Given the description of an element on the screen output the (x, y) to click on. 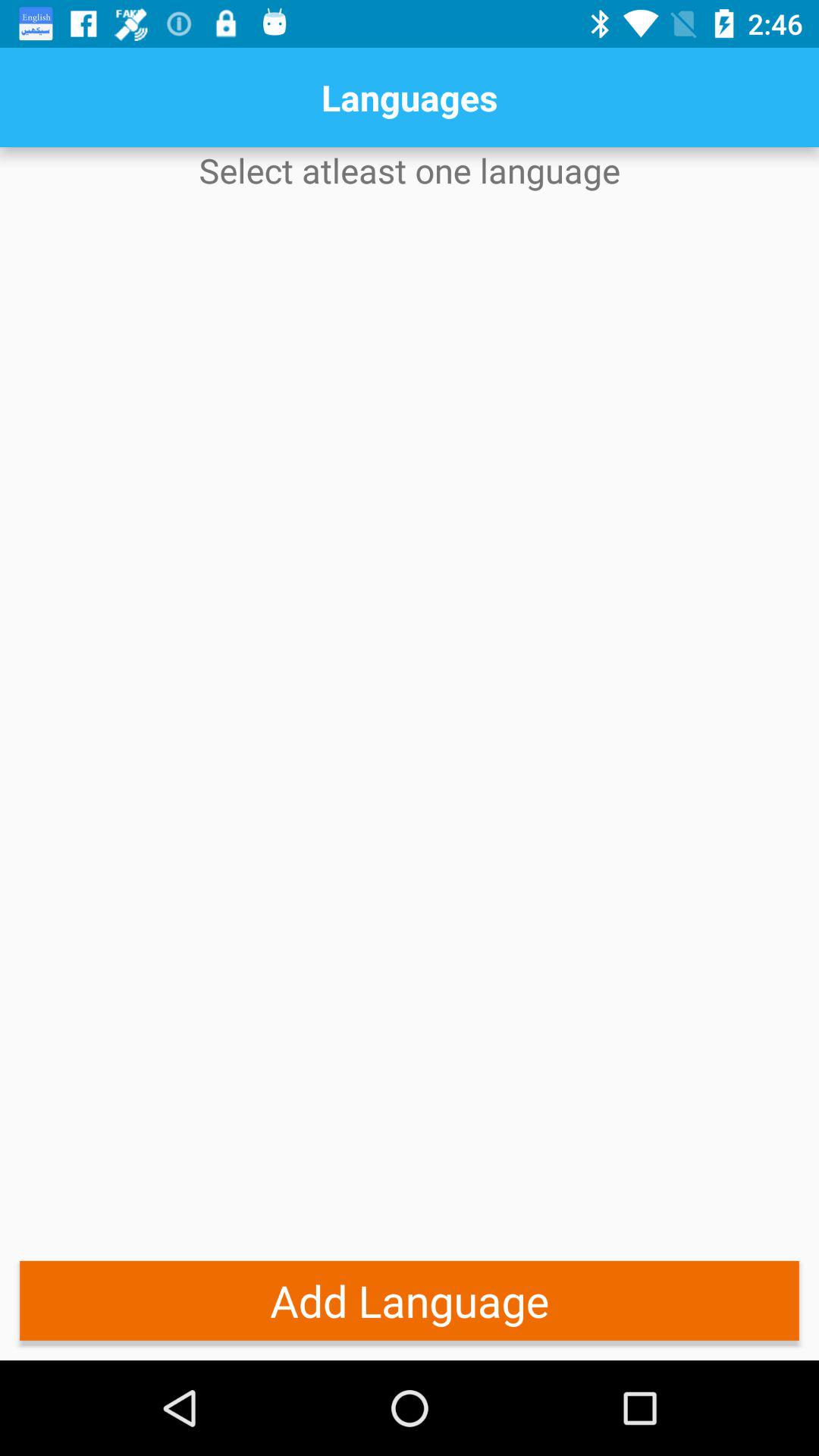
jump to the add language button (409, 1300)
